Given the description of an element on the screen output the (x, y) to click on. 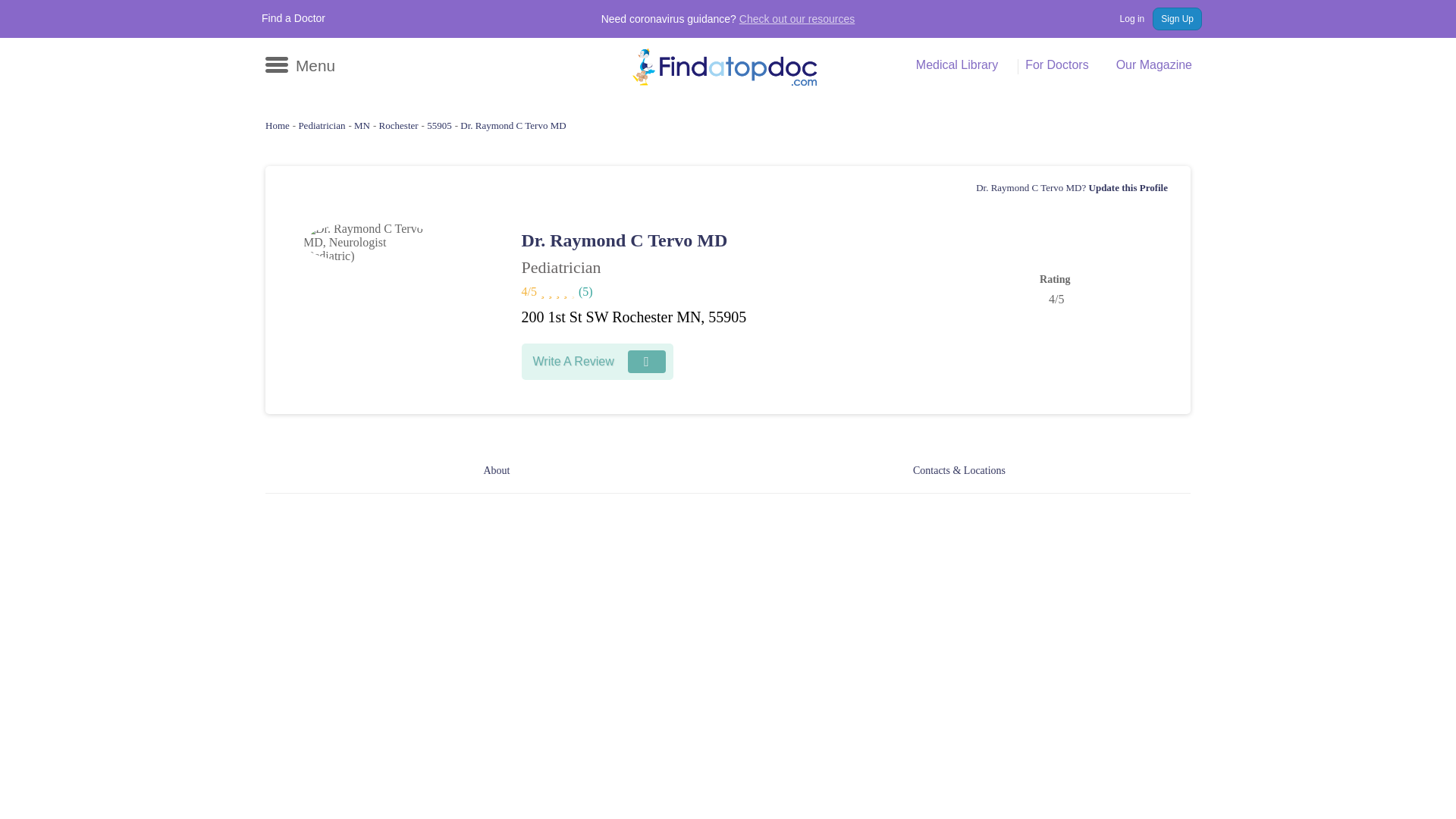
Menu (299, 65)
Sign Up (1177, 18)
Check out our resources (797, 19)
Log in (1124, 18)
Find a Doctor (293, 17)
Log in (1124, 18)
Sign Up (1177, 18)
